Given the description of an element on the screen output the (x, y) to click on. 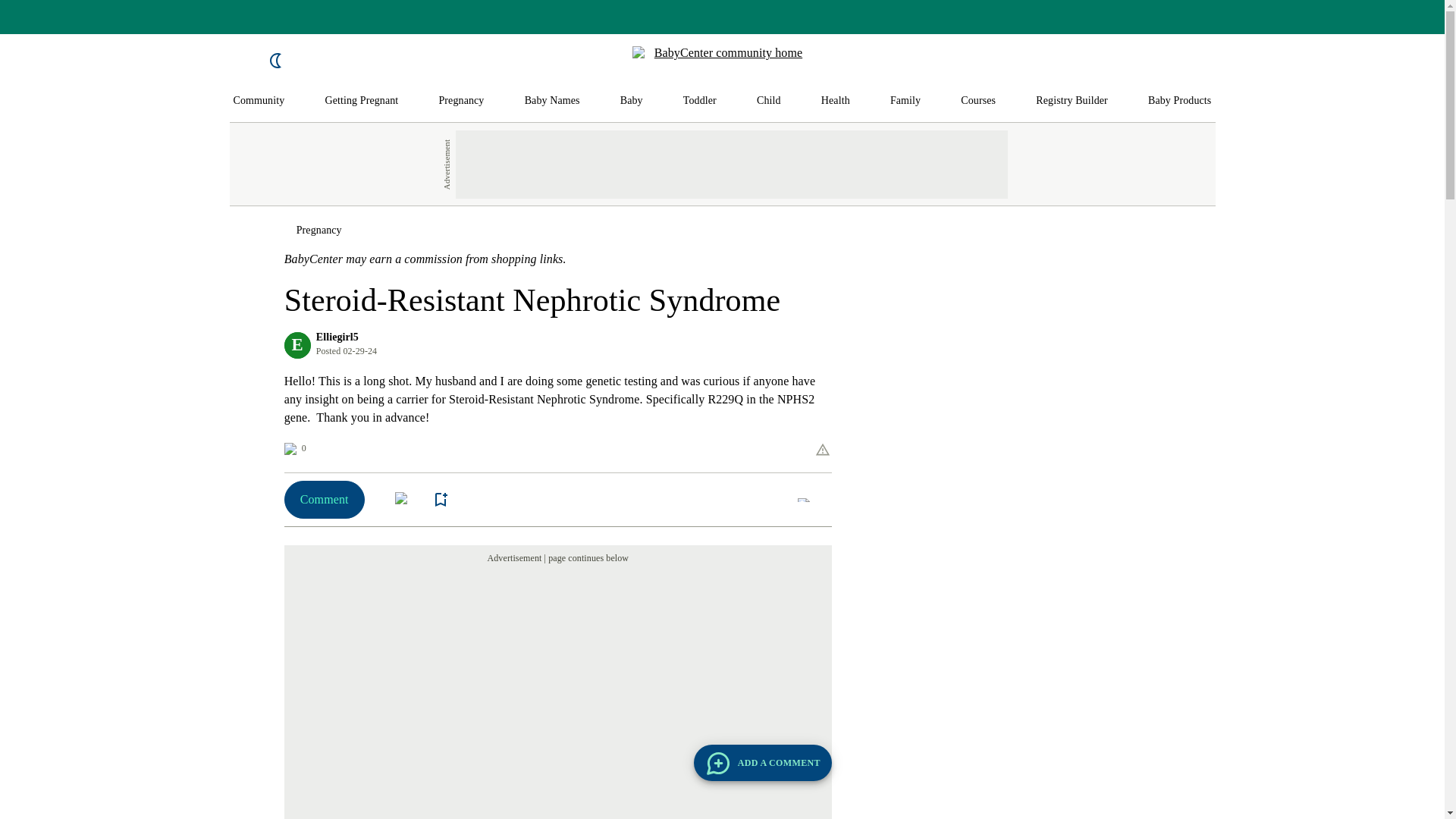
Health (835, 101)
Toddler (699, 101)
Getting Pregnant (360, 101)
Baby (631, 101)
Baby Products (1179, 101)
Pregnancy (460, 101)
Child (768, 101)
Family (904, 101)
Community (258, 101)
Registry Builder (1071, 101)
